Given the description of an element on the screen output the (x, y) to click on. 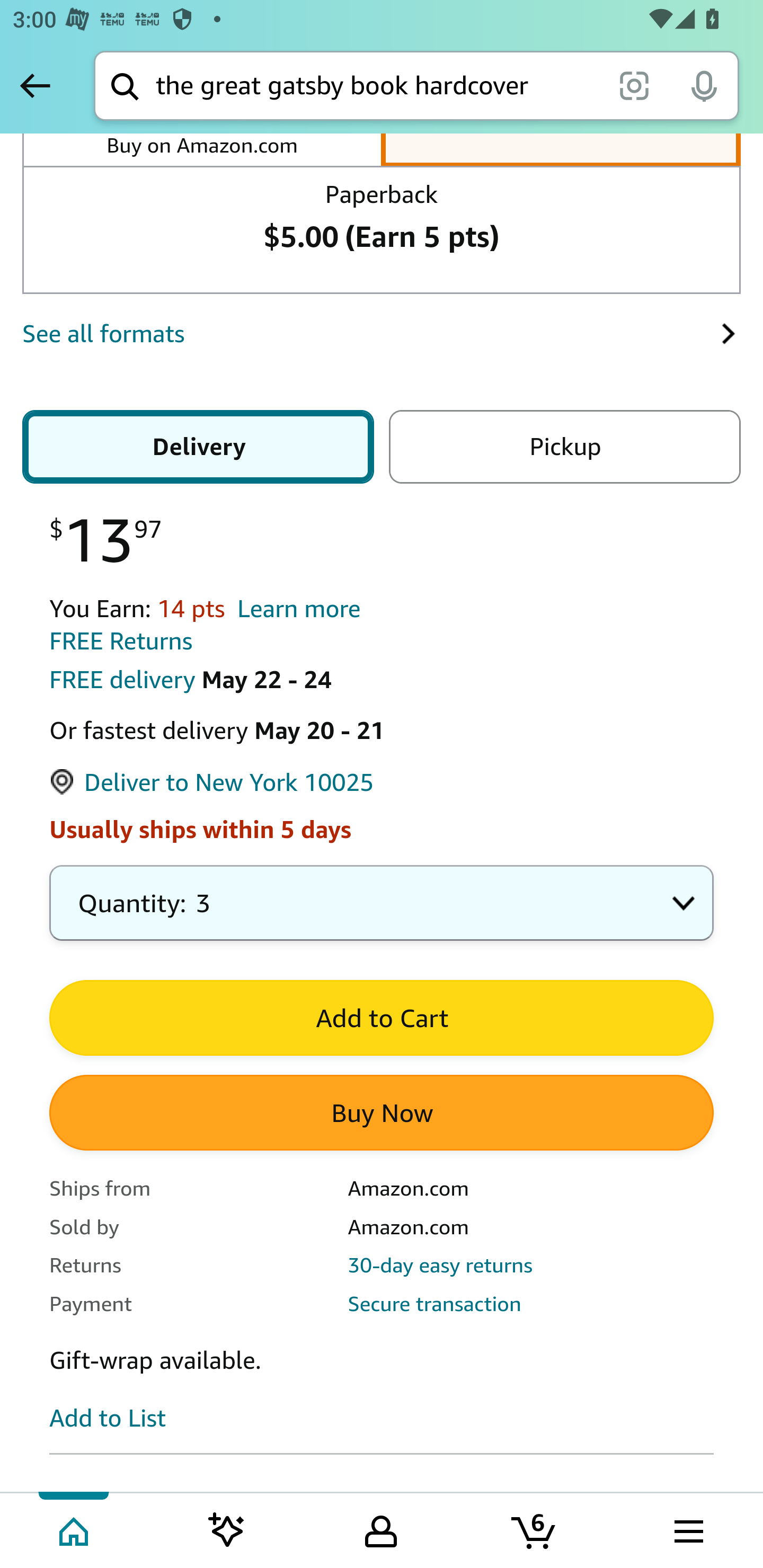
Back (35, 85)
scan it (633, 85)
See all formats (371, 333)
Delivery (201, 446)
Pickup (560, 446)
Learn more (298, 609)
FREE Returns (121, 641)
FREE delivery (122, 679)
Deliver to New York 10025‌ (212, 783)
3 (381, 912)
Add to Cart (381, 1017)
Buy Now (381, 1112)
Add to List (108, 1418)
Home Tab 1 of 5 (75, 1529)
Inspire feed Tab 2 of 5 (227, 1529)
Your Amazon.com Tab 3 of 5 (380, 1529)
Cart 6 items Tab 4 of 5 6 (534, 1529)
Browse menu Tab 5 of 5 (687, 1529)
